Given the description of an element on the screen output the (x, y) to click on. 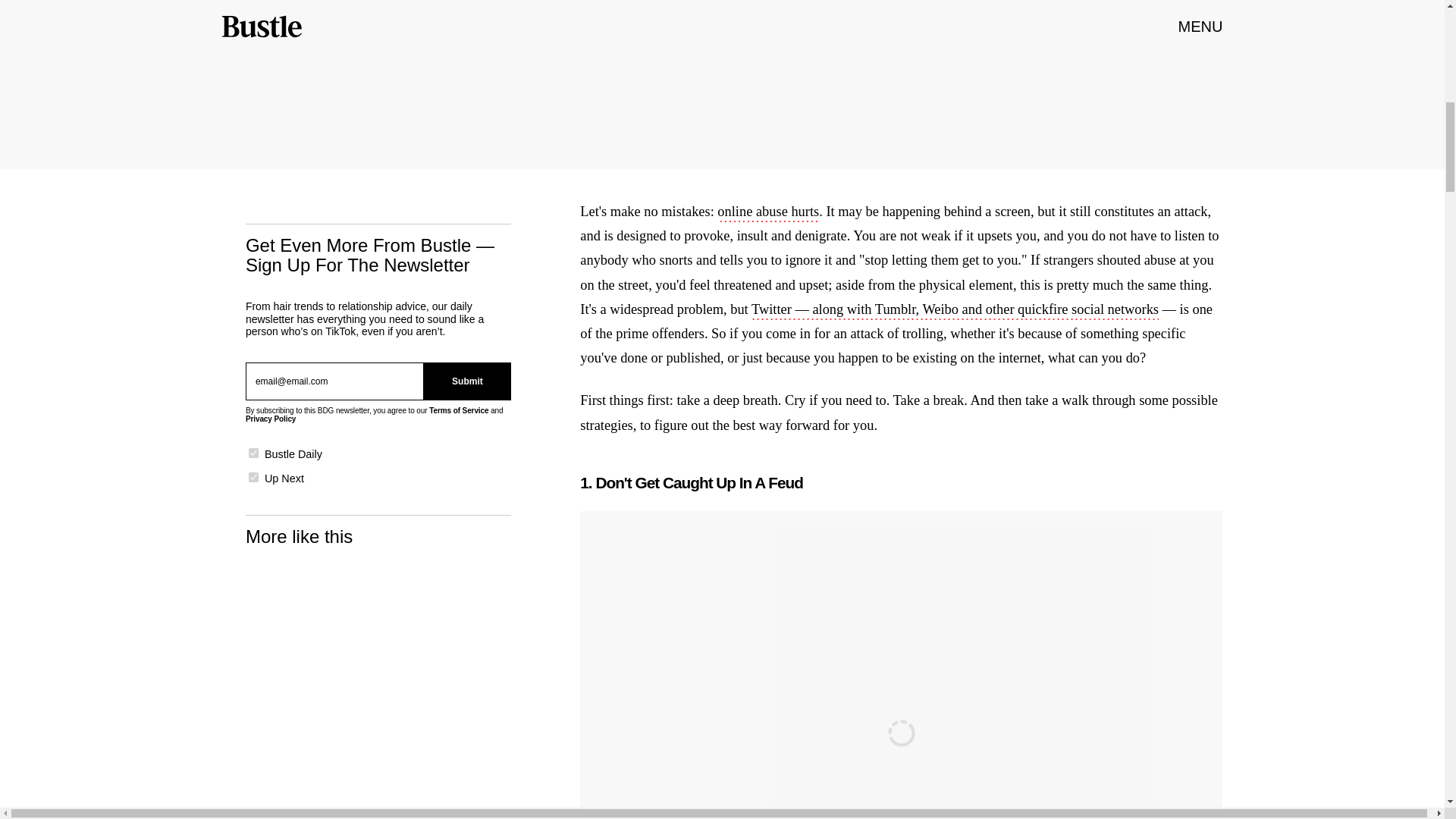
Terms of Service (458, 410)
Submit (467, 381)
Privacy Policy (270, 418)
online abuse hurts (767, 212)
